Given the description of an element on the screen output the (x, y) to click on. 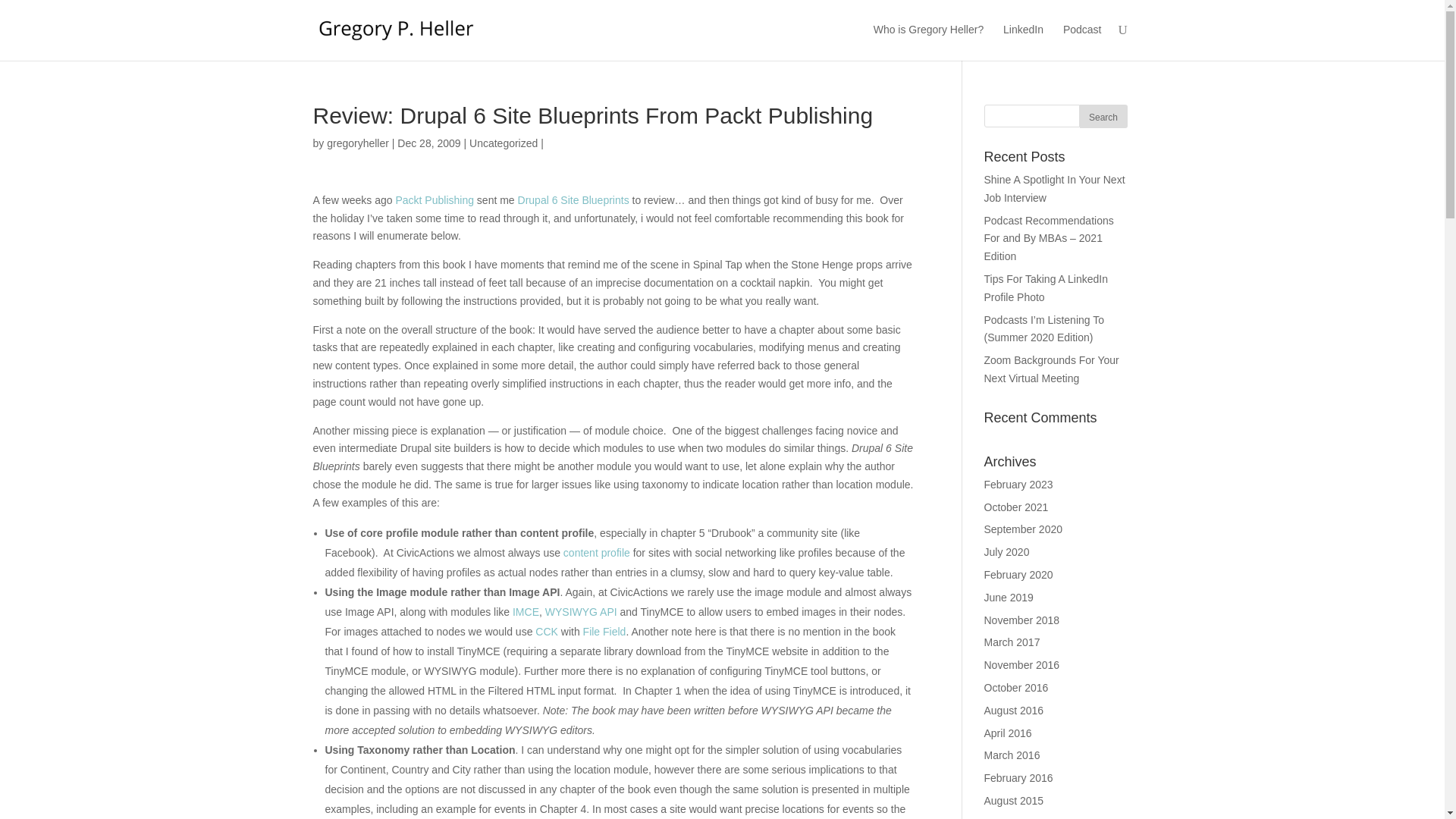
February 2023 (1018, 484)
content profile (596, 552)
Shine A Spotlight In Your Next Job Interview (1054, 188)
November 2016 (1021, 664)
July 2020 (1006, 551)
Podcast (1082, 40)
Packt Publishing (434, 200)
Who is Gregory Heller? (928, 40)
CCK (546, 631)
September 2020 (1023, 529)
